Given the description of an element on the screen output the (x, y) to click on. 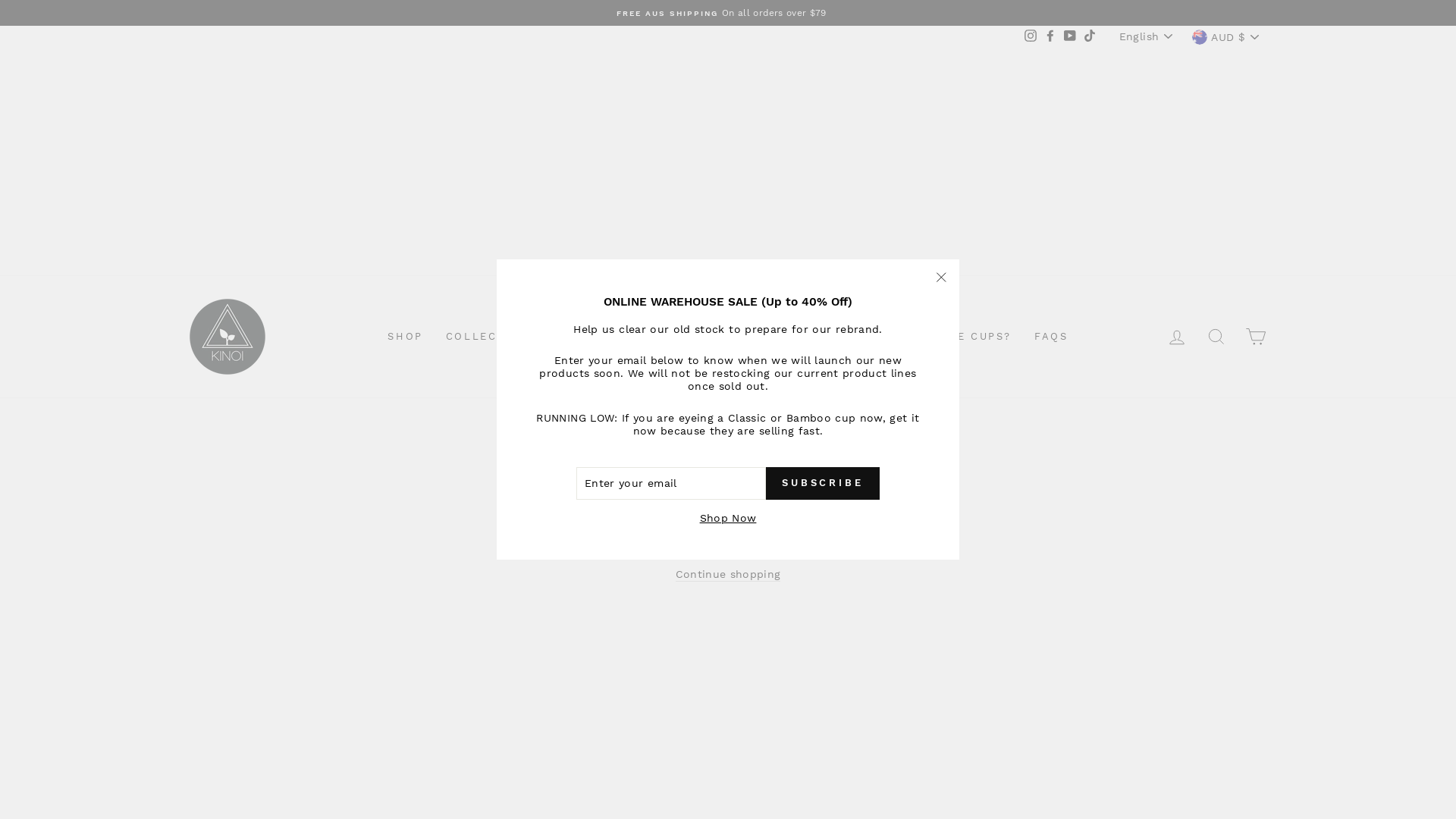
YouTube Element type: text (1069, 37)
OUR STORY Element type: text (769, 336)
COLLECTIONS Element type: text (491, 336)
"Close (esc)" Element type: text (940, 277)
Skip to content Element type: text (0, 0)
CART Element type: text (1255, 336)
SHOP Element type: text (404, 336)
Advertisement Element type: hover (728, 162)
SUBSCRIBE Element type: text (822, 482)
FAQS Element type: text (1050, 336)
AUD $ Element type: text (1226, 36)
LOG IN Element type: text (1176, 336)
WHY NO SINGLE-USE CUPS? Element type: text (920, 336)
Facebook Element type: text (1050, 37)
Continue shopping Element type: text (728, 574)
Shop Now Element type: text (728, 518)
BYO STORE DIRECTORY Element type: text (634, 336)
TikTok Element type: text (1089, 37)
Instagram Element type: text (1030, 37)
SEARCH Element type: text (1216, 336)
English Element type: text (1146, 36)
